Given the description of an element on the screen output the (x, y) to click on. 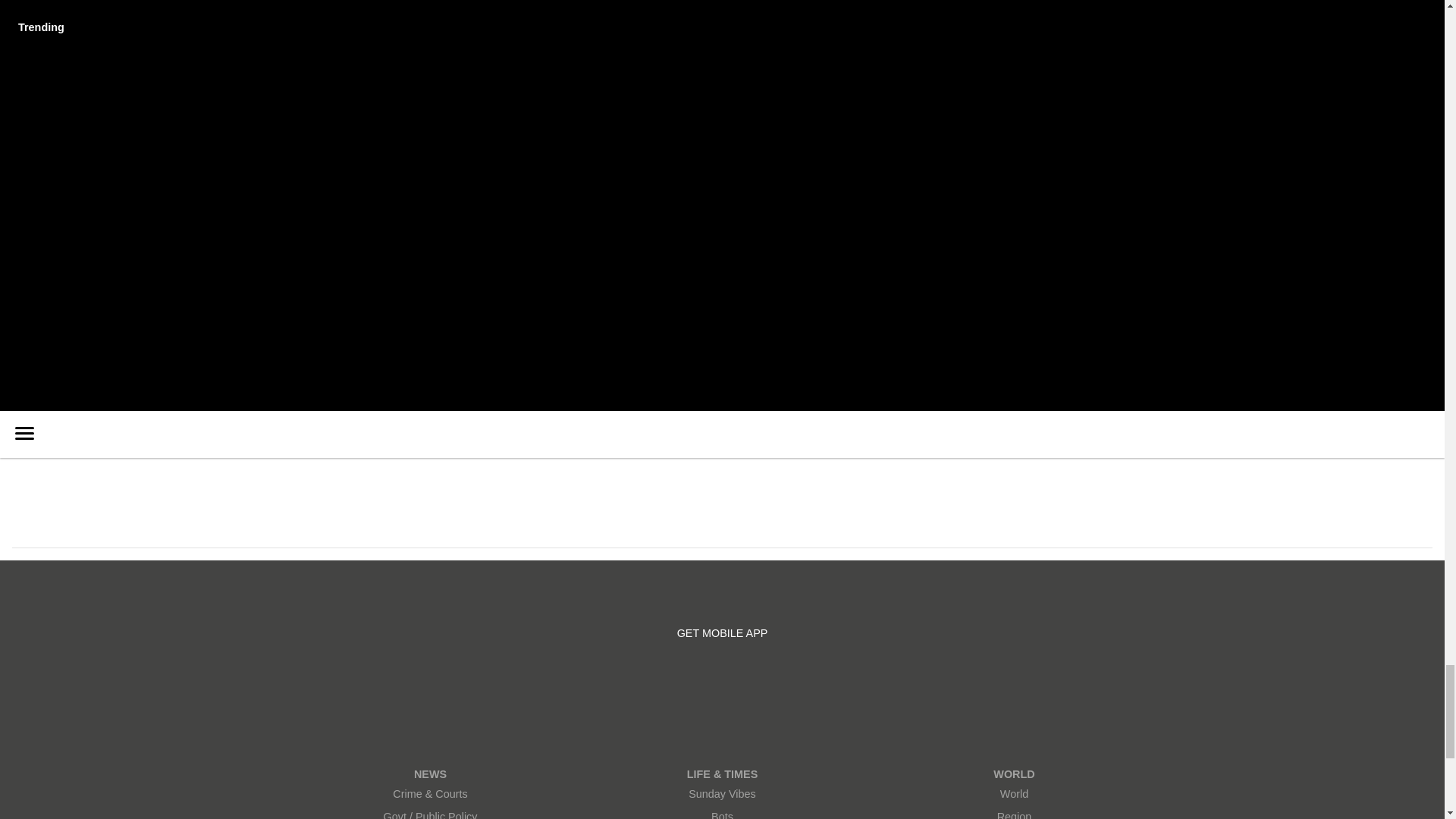
NEWS (429, 773)
